Given the description of an element on the screen output the (x, y) to click on. 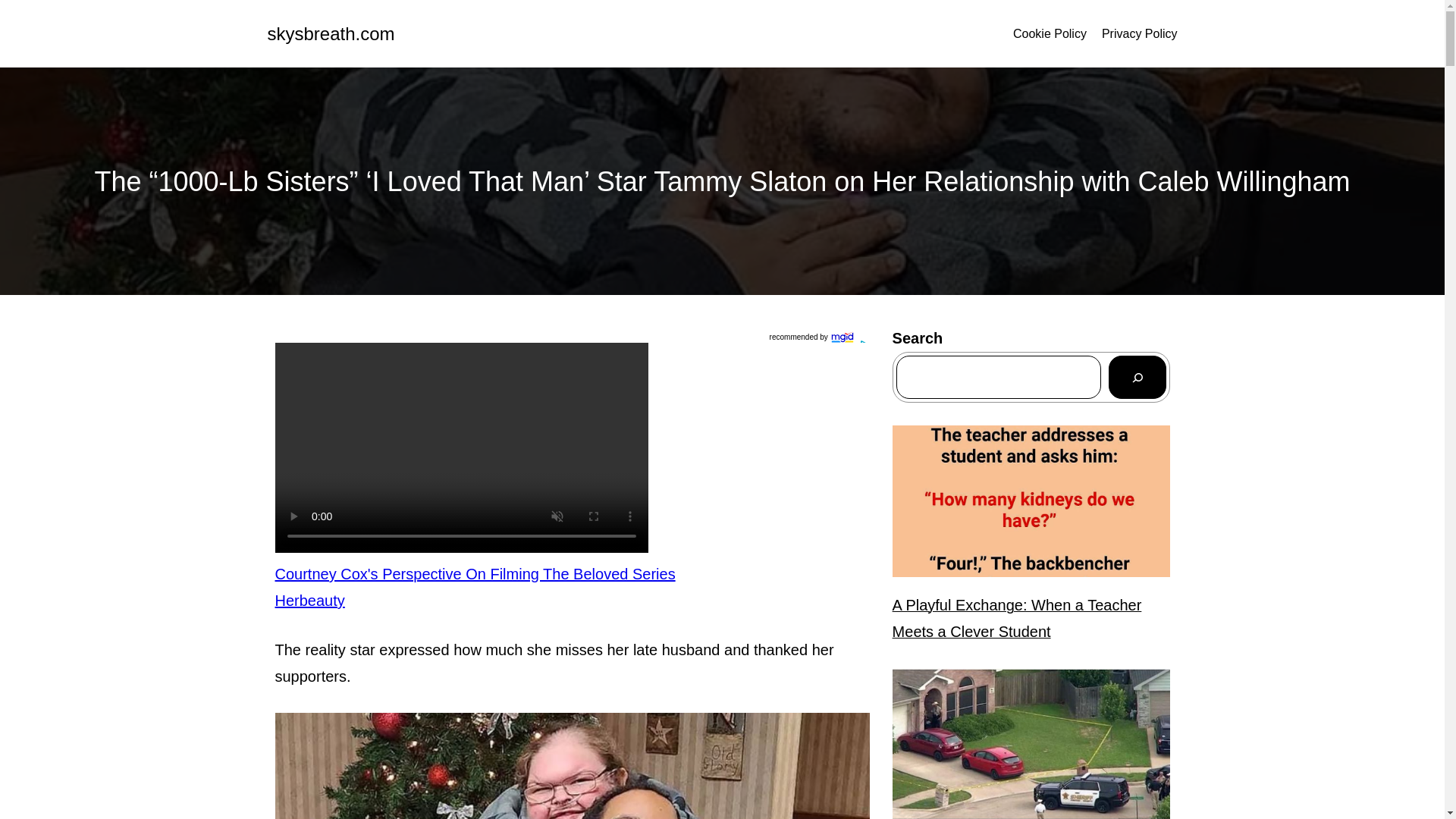
A Playful Exchange: When a Teacher Meets a Clever Student (1031, 618)
Cookie Policy (1049, 34)
skysbreath.com (330, 33)
Privacy Policy (1139, 34)
